Given the description of an element on the screen output the (x, y) to click on. 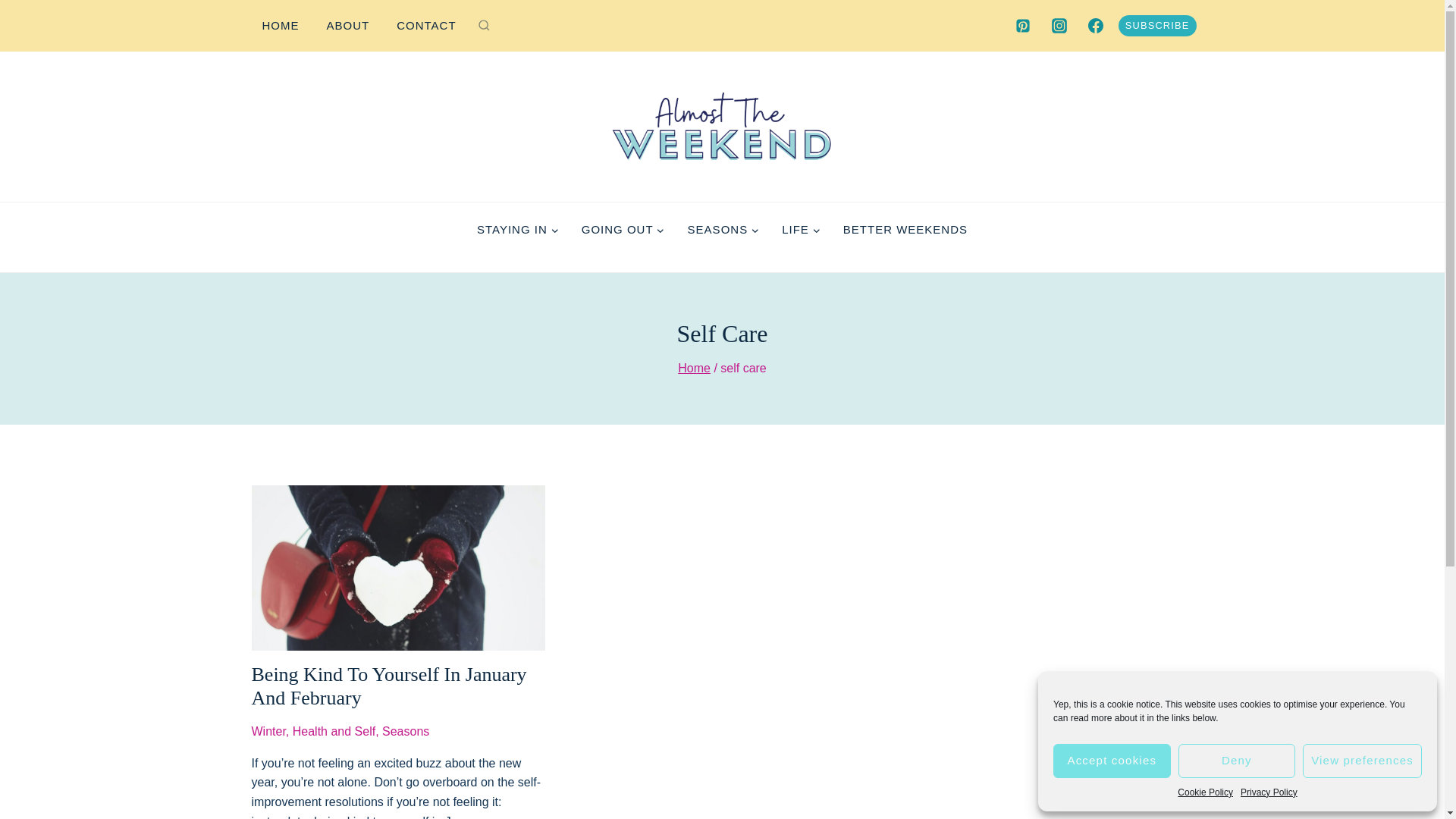
HOME (280, 25)
Accept cookies (1111, 760)
SUBSCRIBE (1157, 25)
Cookie Policy (1205, 792)
ABOUT (347, 25)
CONTACT (425, 25)
Deny (1236, 760)
SEASONS (724, 229)
Privacy Policy (1268, 792)
GOING OUT (623, 229)
View preferences (1362, 760)
STAYING IN (517, 229)
LIFE (800, 229)
